Given the description of an element on the screen output the (x, y) to click on. 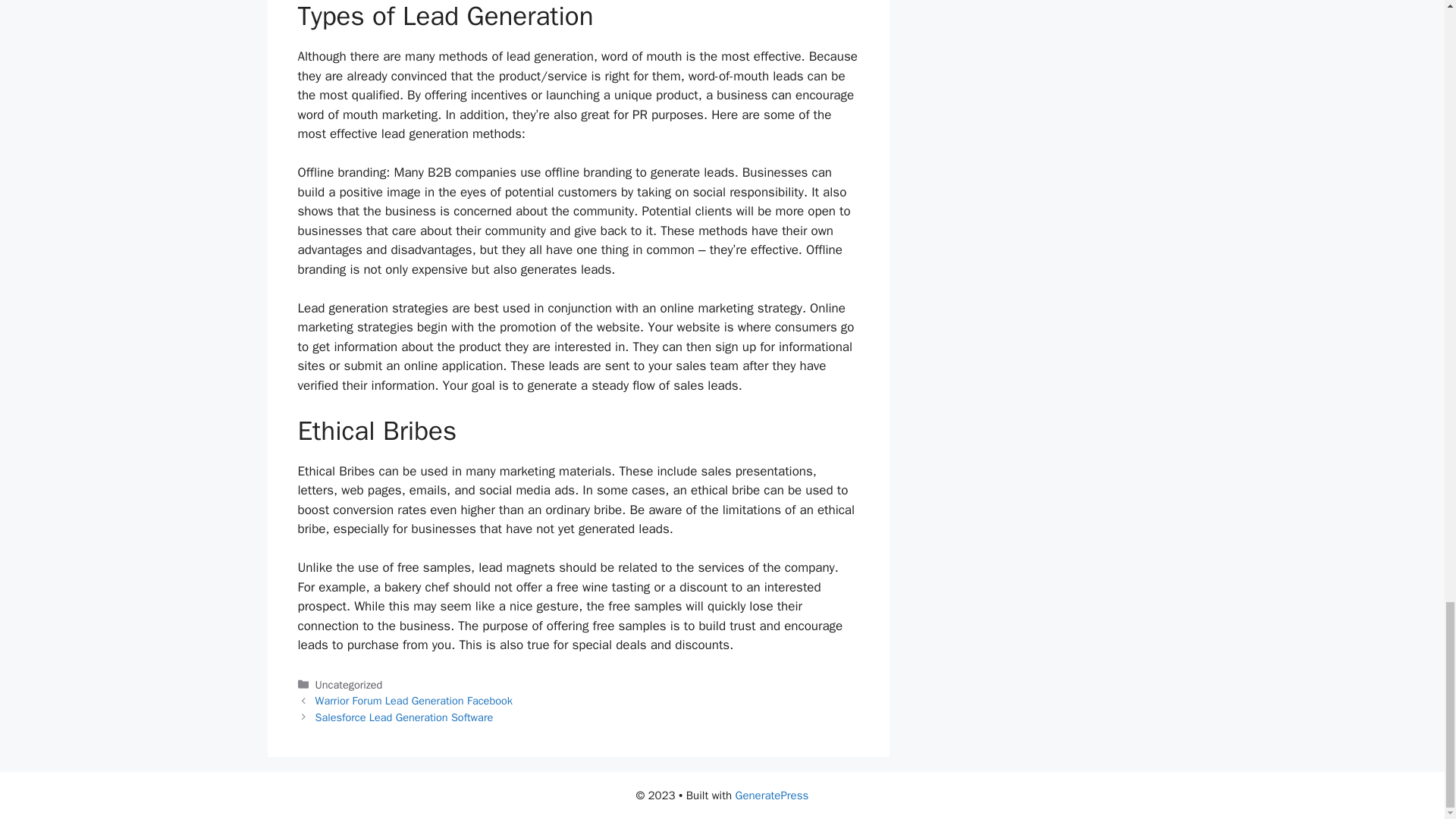
Warrior Forum Lead Generation Facebook (413, 700)
GeneratePress (772, 795)
Salesforce Lead Generation Software (404, 716)
